Given the description of an element on the screen output the (x, y) to click on. 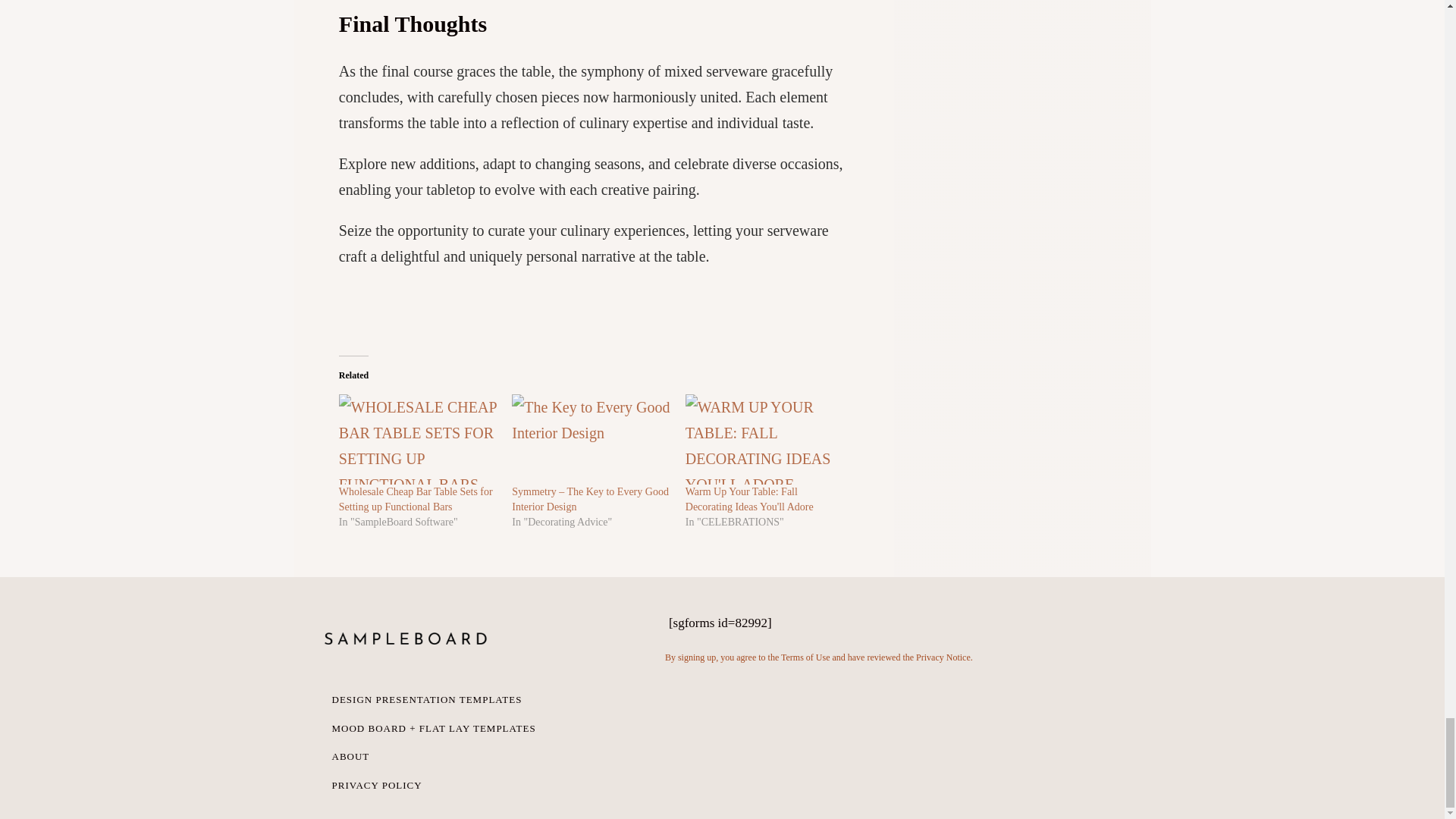
Warm Up Your Table: Fall Decorating Ideas You'll Adore (749, 499)
Warm Up Your Table: Fall Decorating Ideas You'll Adore (764, 438)
